Given the description of an element on the screen output the (x, y) to click on. 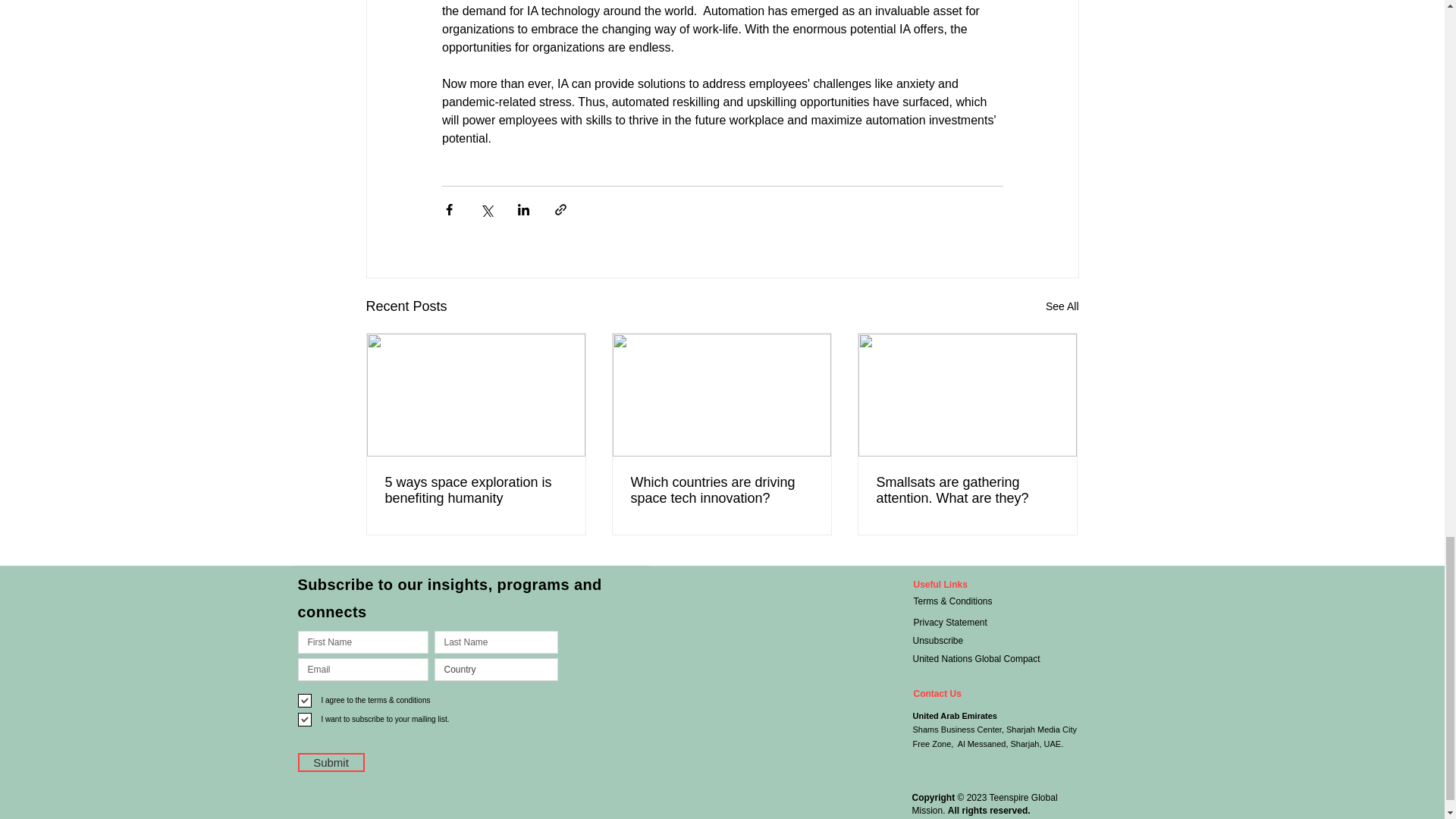
Unsubscribe (962, 640)
See All (1061, 306)
5 ways space exploration is benefiting humanity (476, 490)
United Nations Global Compact (991, 658)
Submit (330, 762)
Privacy Statement (962, 621)
Which countries are driving space tech innovation? (721, 490)
Smallsats are gathering attention. What are they? (967, 490)
